Given the description of an element on the screen output the (x, y) to click on. 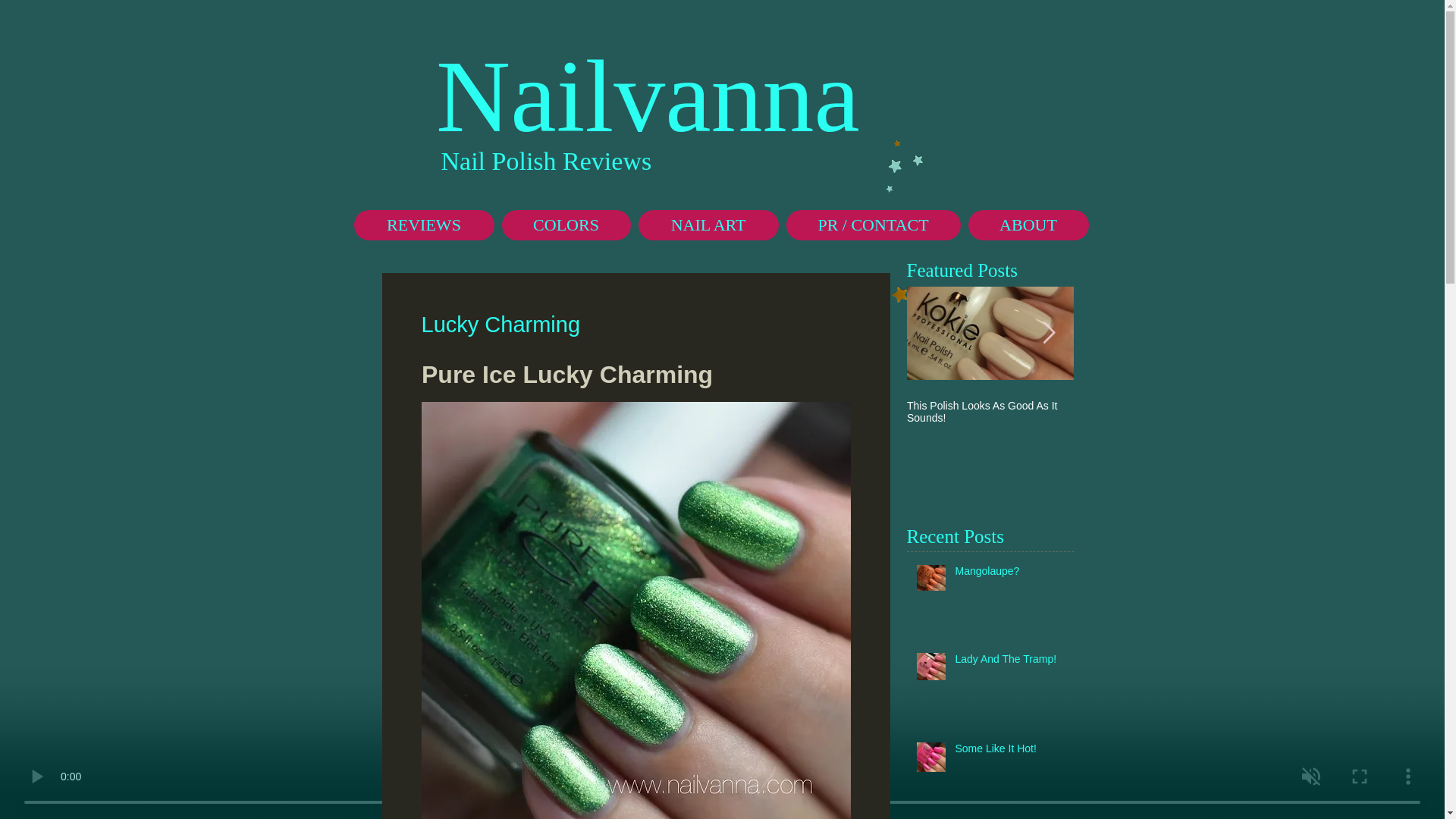
ABOUT (1027, 224)
COLORS (566, 224)
NAIL ART (708, 224)
This Polish Looks As Good As It Sounds! (990, 411)
REVIEWS (423, 224)
Pretty and Blue! (1157, 405)
Mangolaupe? (1009, 574)
